Given the description of an element on the screen output the (x, y) to click on. 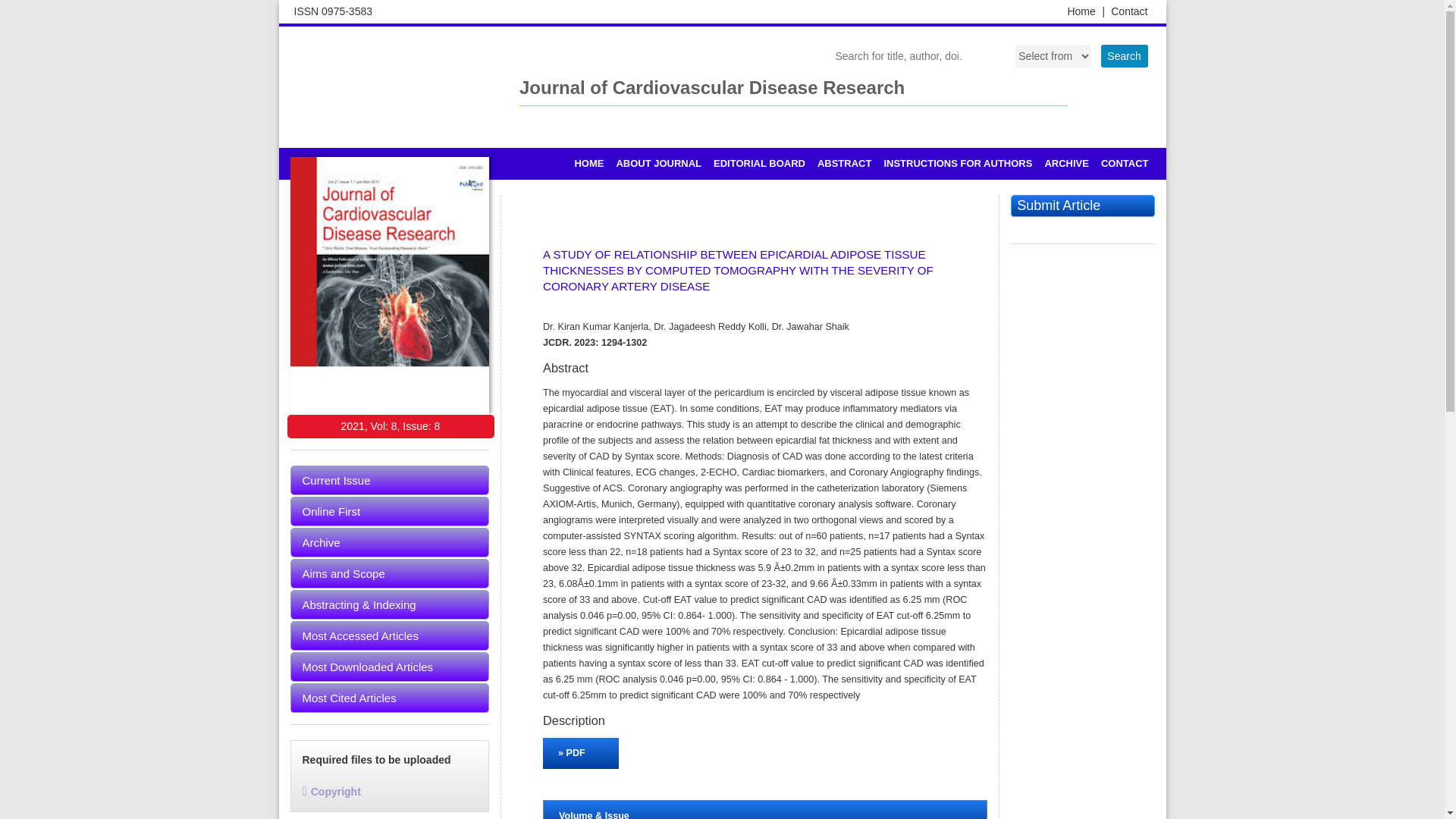
Archive (389, 542)
Most Accessed Articles (389, 635)
Search (1124, 56)
HOME (588, 163)
Search (1124, 56)
Current Issue (389, 480)
Most Downloaded Articles (389, 666)
CONTACT (1124, 163)
Search (1124, 56)
INSTRUCTIONS FOR AUTHORS (957, 163)
Submit Article (1082, 205)
Most Cited Articles (389, 697)
ARCHIVE (1066, 163)
ABOUT JOURNAL (658, 163)
ABSTRACT (843, 163)
